Given the description of an element on the screen output the (x, y) to click on. 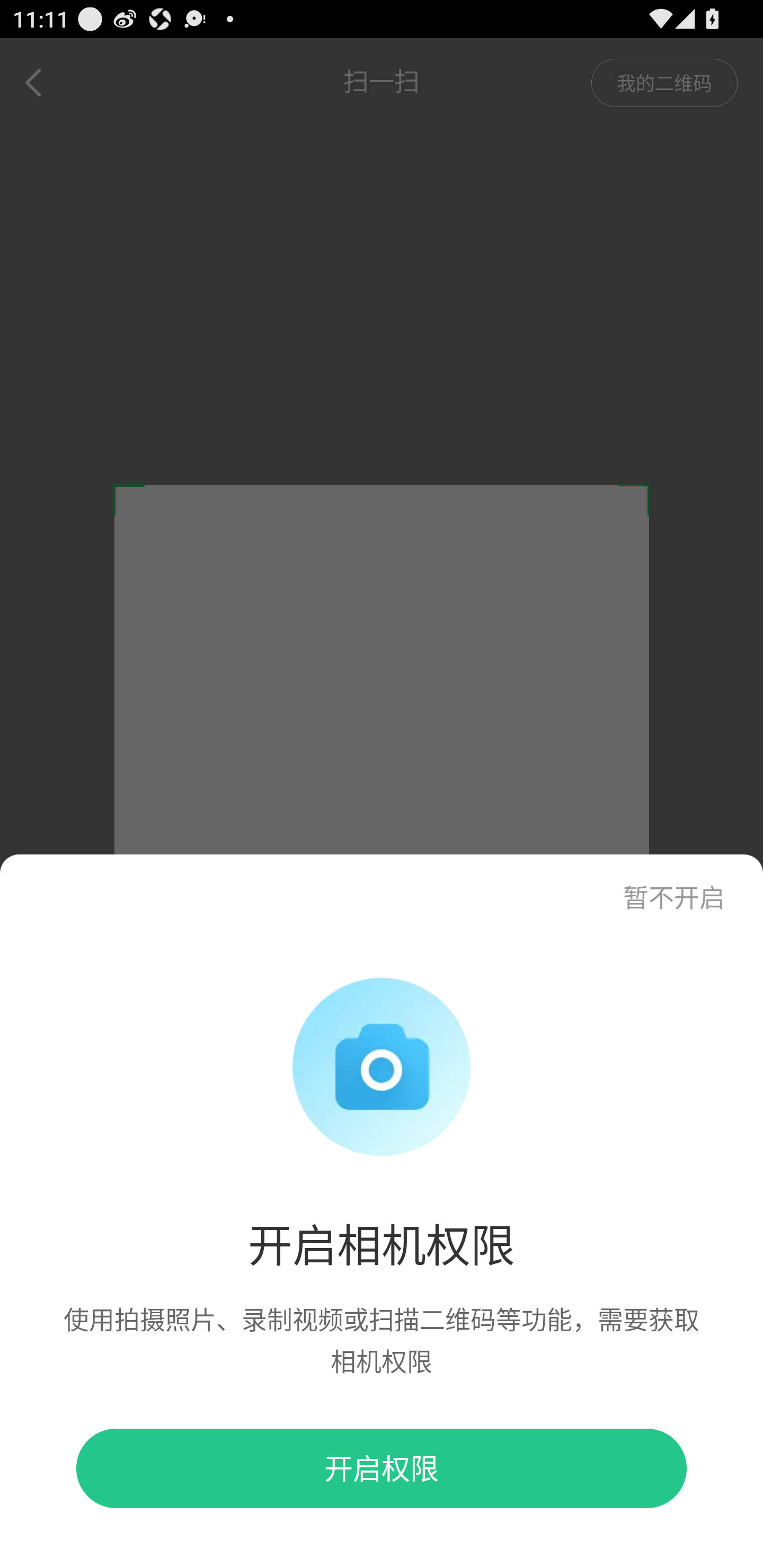
暂不开启 (677, 884)
开启权限 (381, 1468)
